Given the description of an element on the screen output the (x, y) to click on. 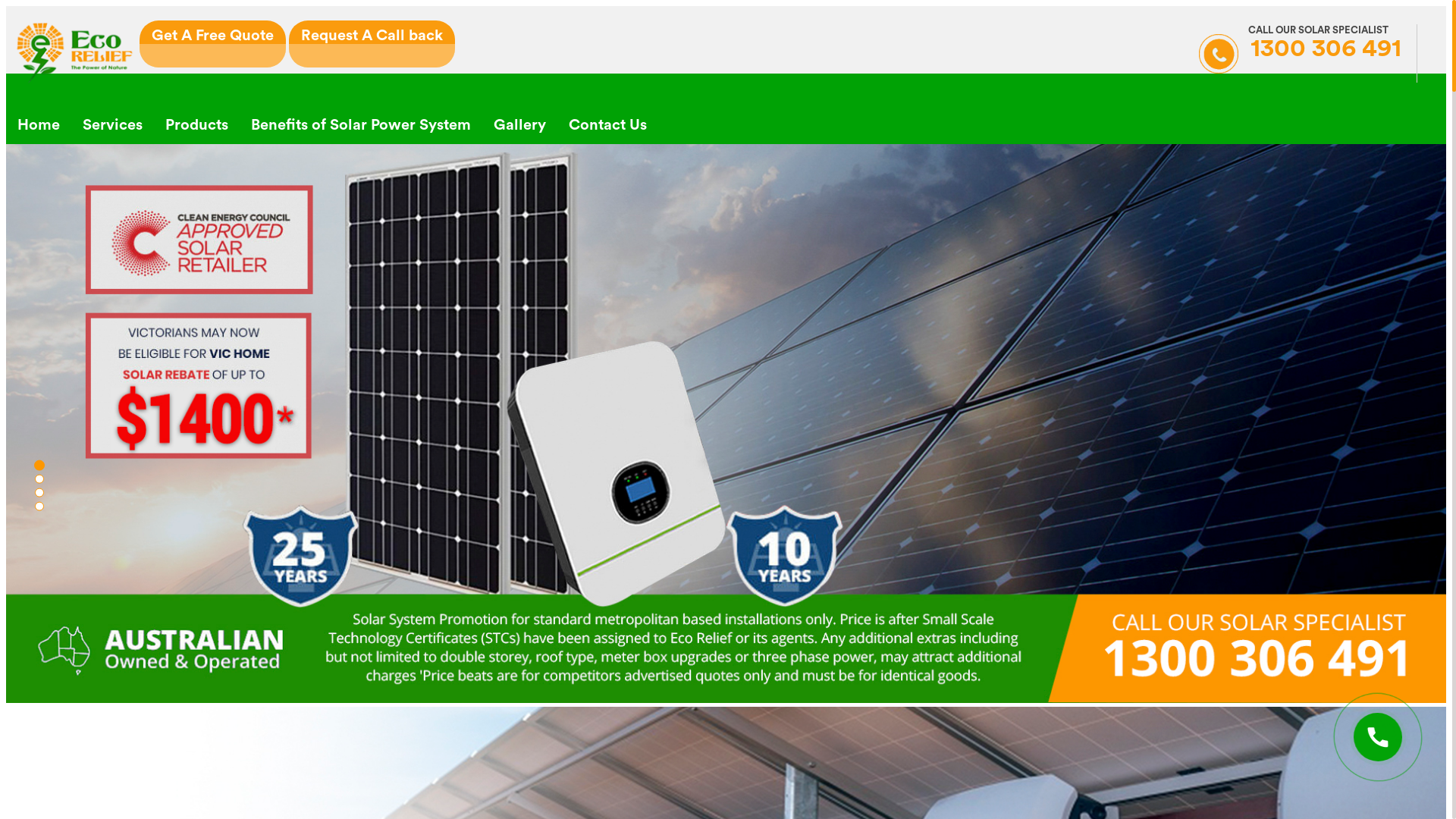
Contact Us Element type: text (607, 125)
Home Element type: text (38, 125)
Services Element type: text (112, 125)
Request A Call back Element type: text (371, 43)
Gallery Element type: text (519, 125)
Products Element type: text (196, 125)
Get A Free Quote Element type: text (212, 43)
1300 306 491 Element type: text (1299, 53)
Benefits of Solar Power System Element type: text (360, 125)
